Given the description of an element on the screen output the (x, y) to click on. 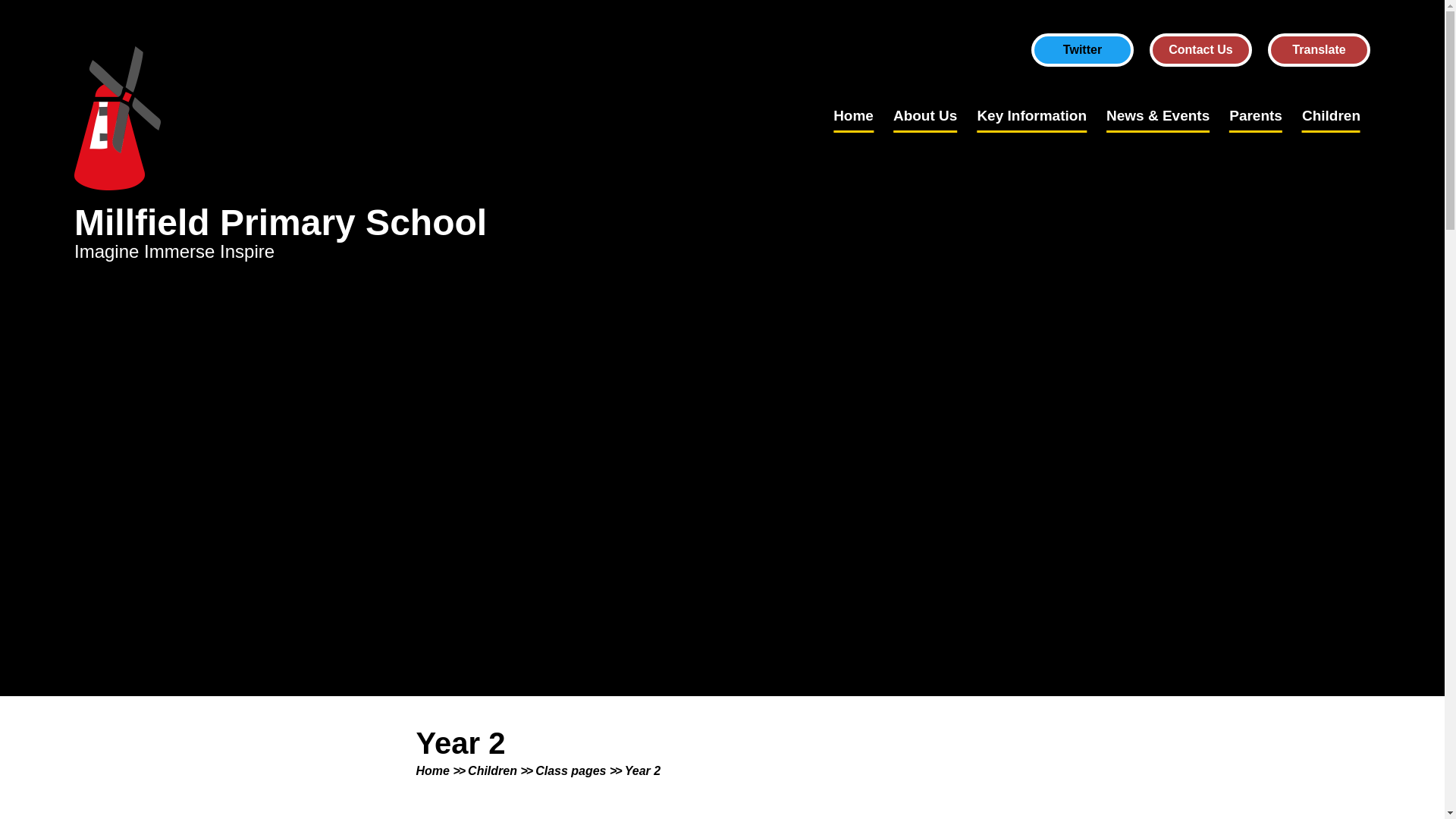
Translate (1319, 49)
Twitter (1082, 49)
Key Information (1032, 115)
About Us (924, 115)
Contact Us (1201, 49)
Home (853, 115)
